Given the description of an element on the screen output the (x, y) to click on. 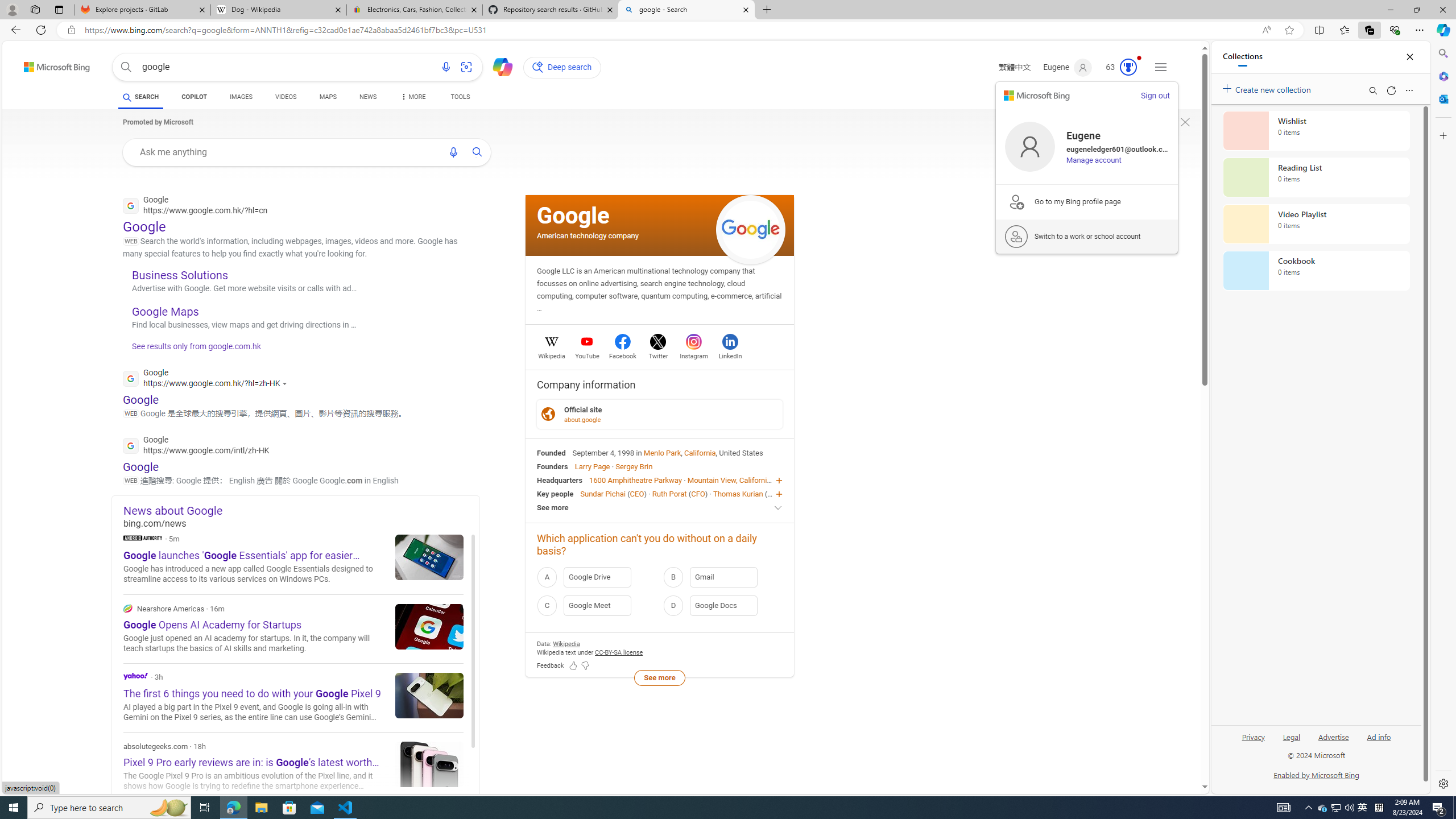
Founders (552, 465)
CC-BY-SA license (619, 652)
Dropdown Menu (412, 96)
Sign out (1155, 95)
Settings and quick links (1160, 67)
Google Opens AI Academy for Startups (428, 626)
Data attribution Wikipedia (566, 643)
